Given the description of an element on the screen output the (x, y) to click on. 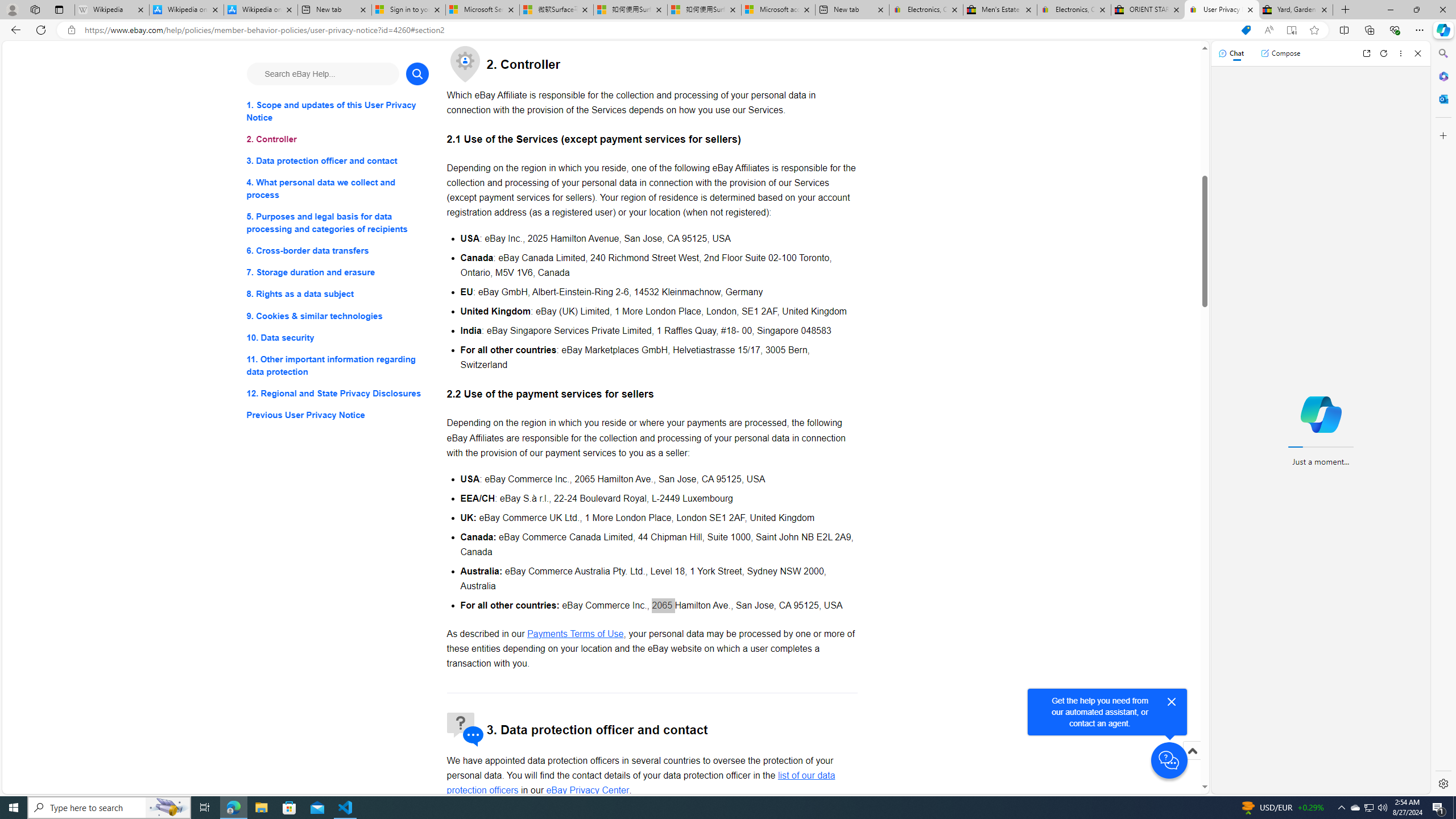
4. What personal data we collect and process (337, 189)
11. Other important information regarding data protection (337, 365)
Previous User Privacy Notice (337, 414)
3. Data protection officer and contact (337, 160)
1. Scope and updates of this User Privacy Notice (337, 111)
